Given the description of an element on the screen output the (x, y) to click on. 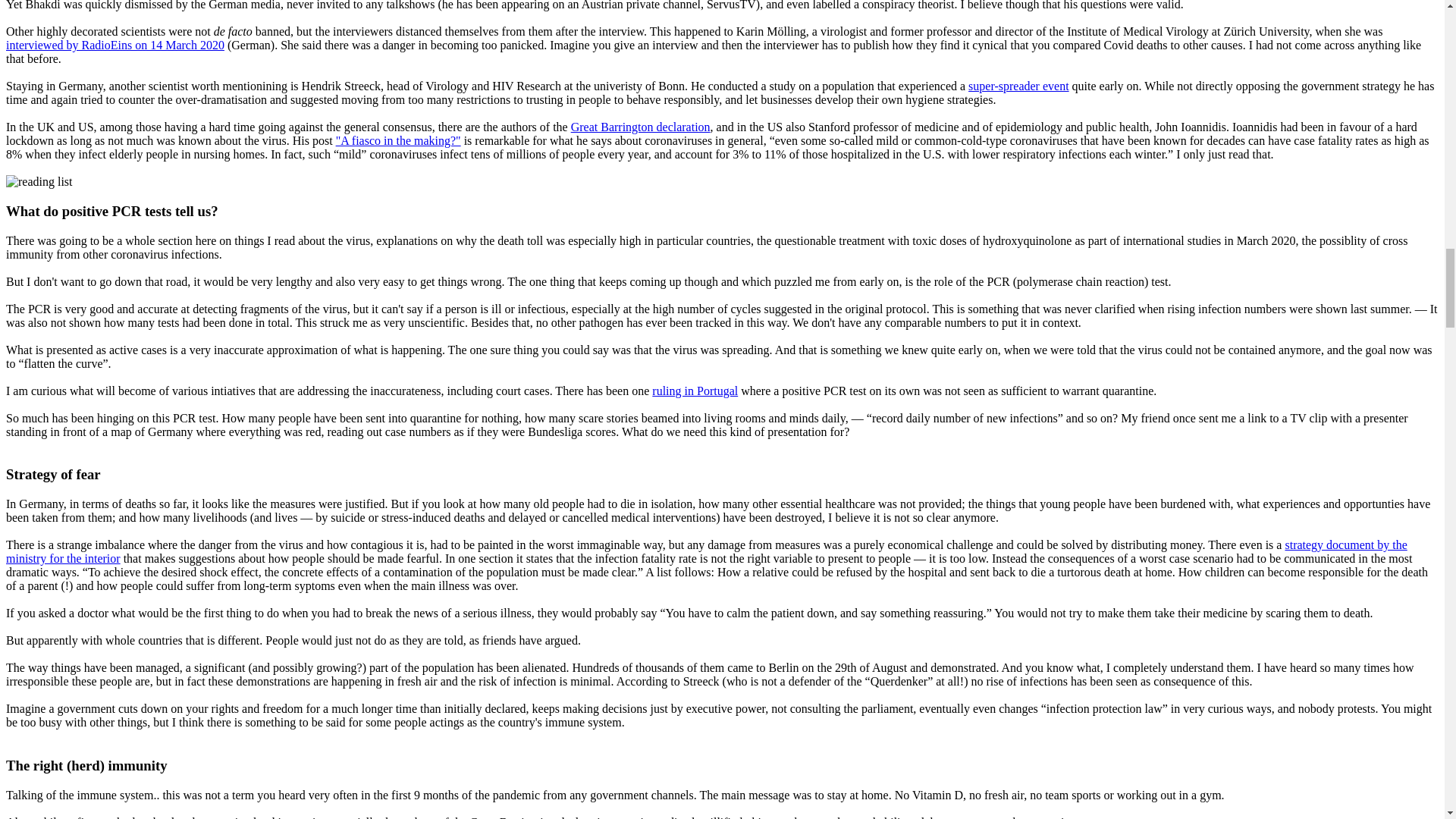
super-spreader event (1018, 85)
Great Barrington declaration (640, 126)
interviewed by RadioEins on 14 March 2020 (114, 44)
"A fiasco in the making?" (398, 140)
ruling in Portugal (695, 390)
strategy document by the ministry for the interior (706, 551)
